Given the description of an element on the screen output the (x, y) to click on. 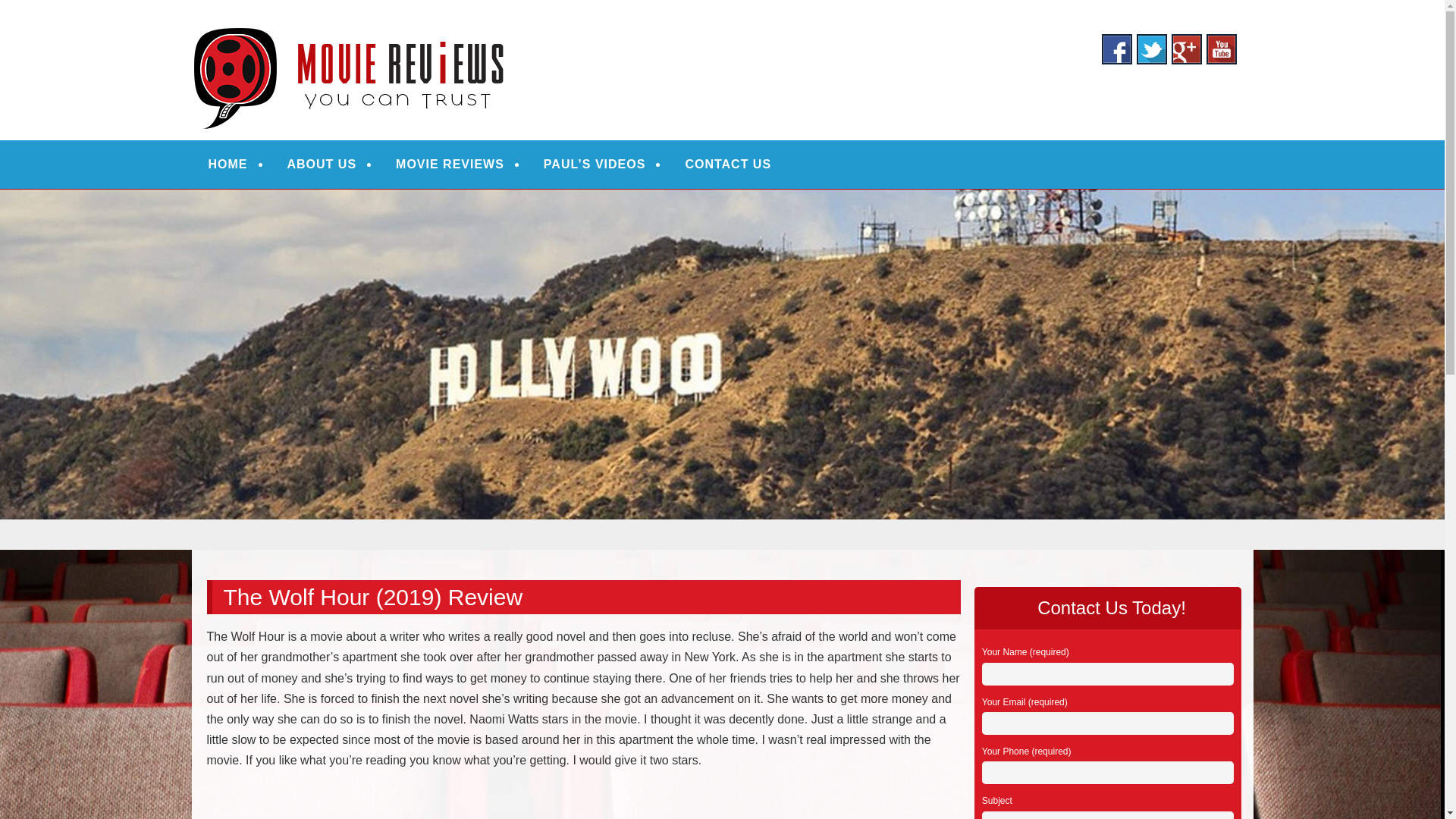
HOME (227, 164)
MOVIE REVIEWS (450, 164)
ABOUT US (321, 164)
Movie Reviews You Can Trust (440, 32)
CONTACT US (727, 164)
MOVIE REVIEWS YOU CAN TRUST (440, 32)
